Given the description of an element on the screen output the (x, y) to click on. 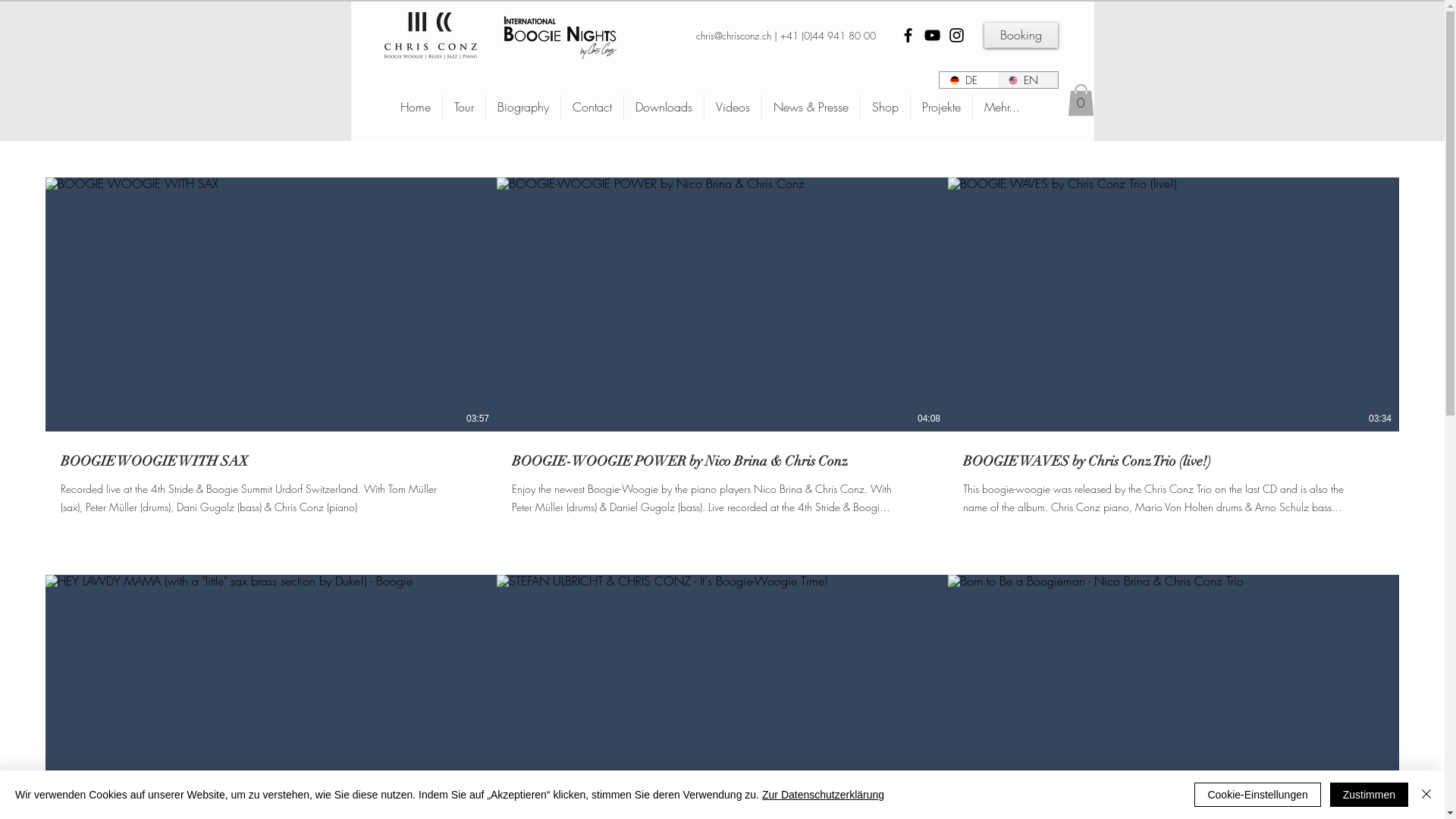
Contact Element type: text (592, 106)
Projekte Element type: text (940, 106)
Zustimmen Element type: text (1369, 794)
Cookie-Einstellungen Element type: text (1257, 794)
DE Element type: text (967, 79)
EN Element type: text (1026, 79)
Shop Element type: text (884, 106)
News & Presse Element type: text (810, 106)
Tour Element type: text (463, 106)
Home Element type: text (414, 106)
chris@chrisconz.ch Element type: text (733, 35)
Videos Element type: text (731, 106)
Biography Element type: text (522, 106)
Booking Element type: text (1020, 34)
+41 (0)44 941 80 00 Element type: text (827, 35)
Downloads Element type: text (662, 106)
0 Element type: text (1080, 100)
